Given the description of an element on the screen output the (x, y) to click on. 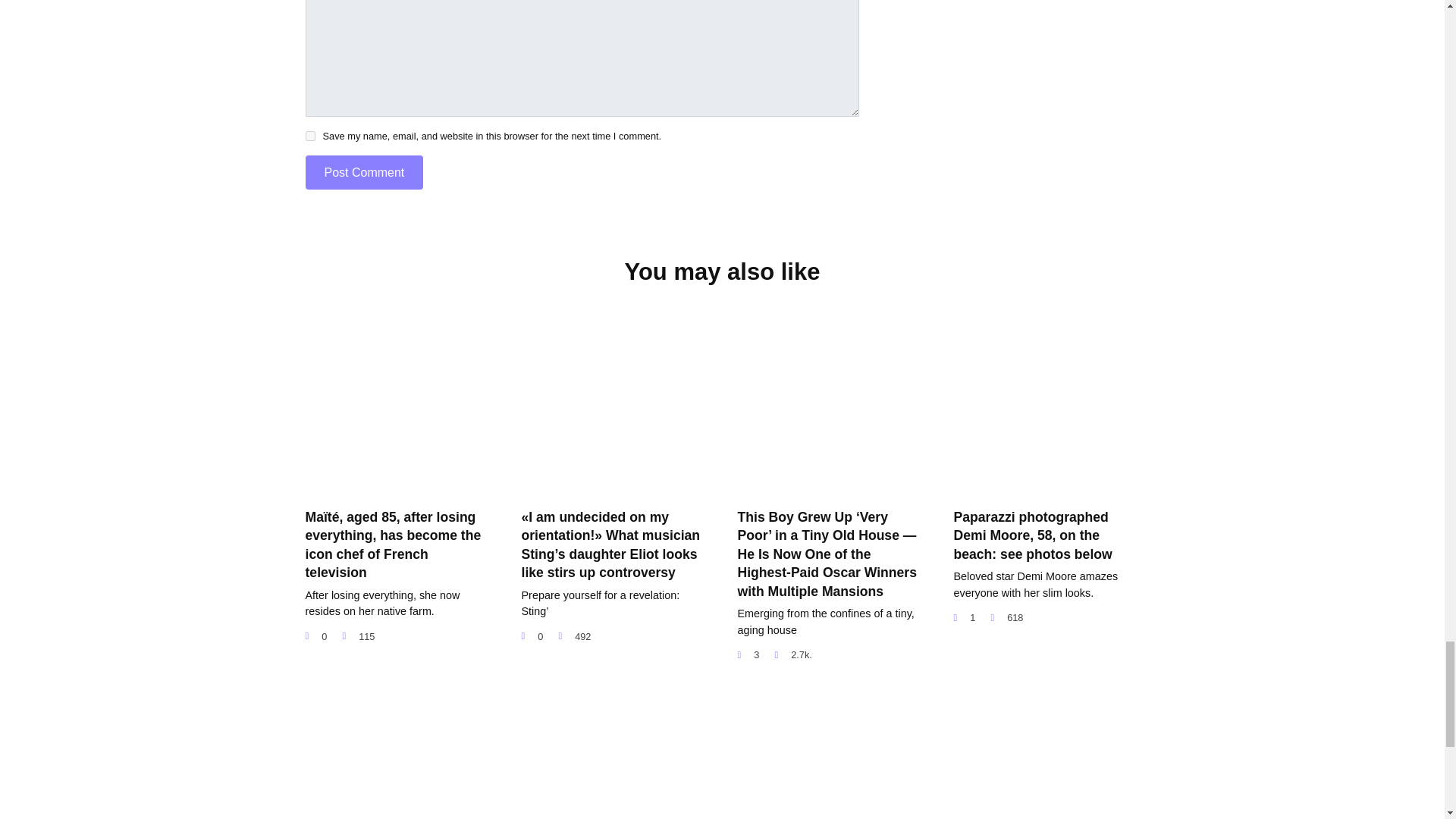
Post Comment (363, 172)
Post Comment (363, 172)
yes (309, 135)
